Given the description of an element on the screen output the (x, y) to click on. 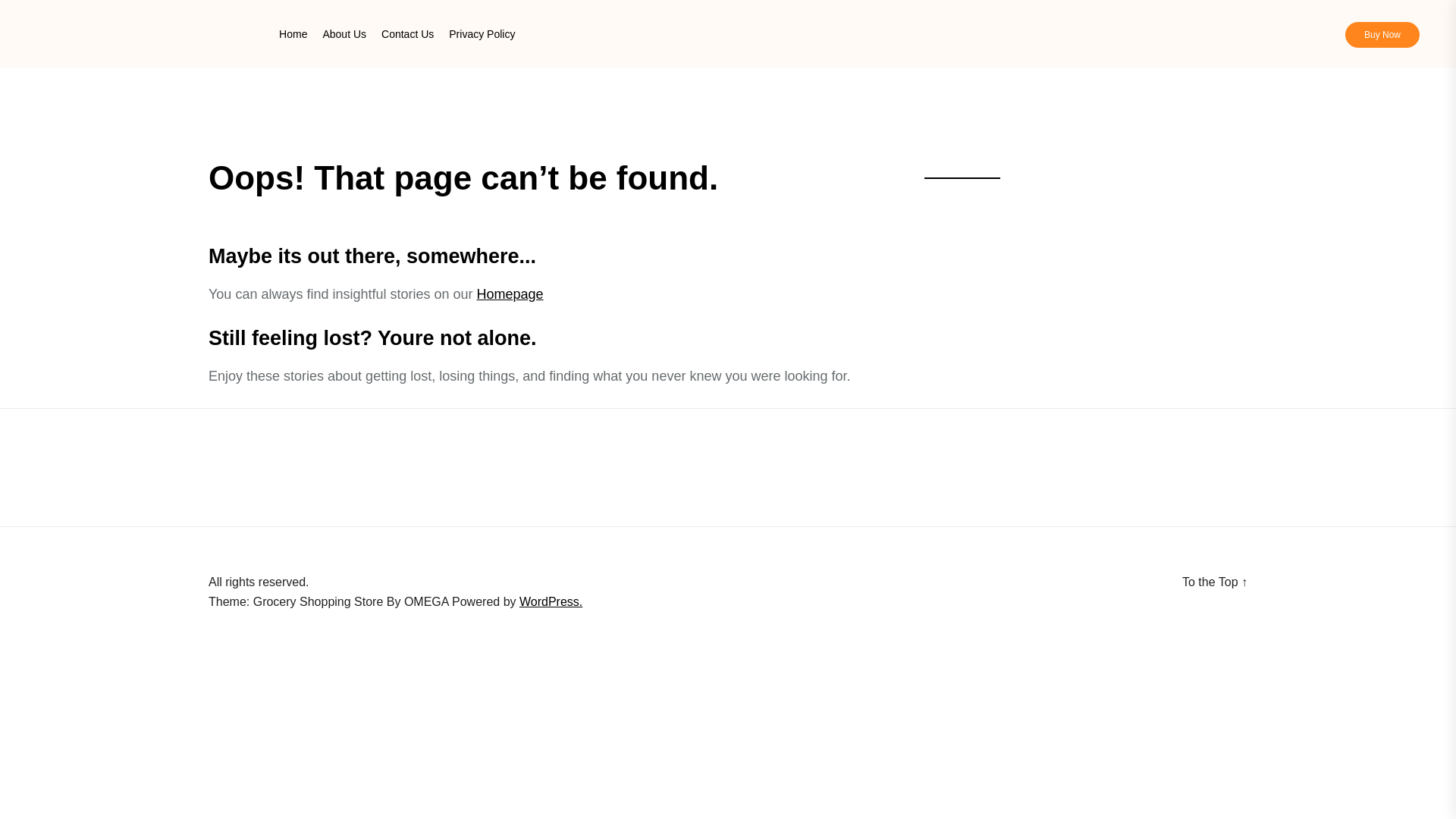
WordPress. (550, 601)
Privacy Policy (481, 33)
Home (293, 33)
WordPress (550, 601)
Homepage (510, 294)
Buy Now (1382, 34)
About Us (343, 33)
Contact Us (407, 33)
